Given the description of an element on the screen output the (x, y) to click on. 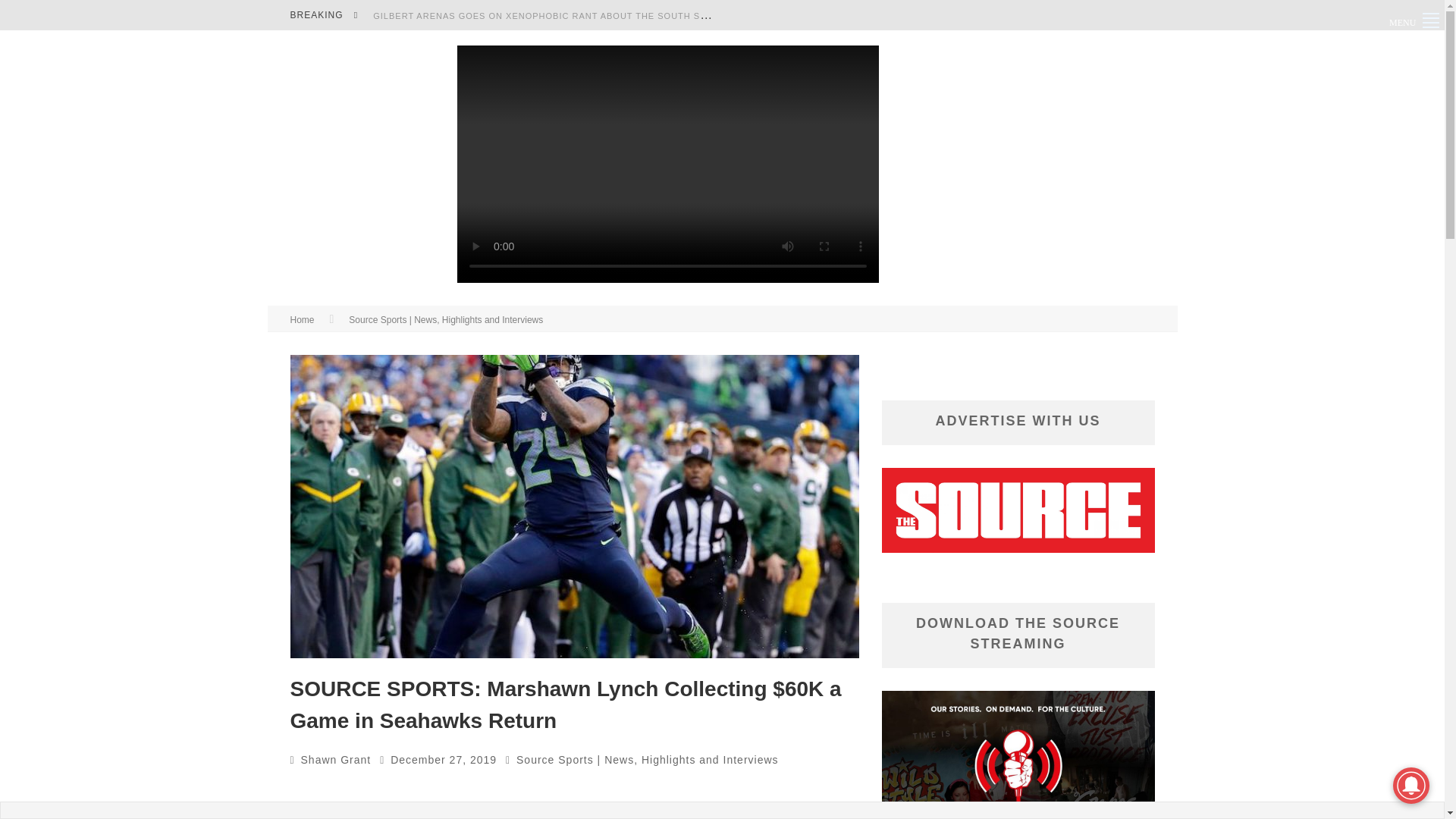
Home (301, 319)
Shawn Grant (336, 759)
